Given the description of an element on the screen output the (x, y) to click on. 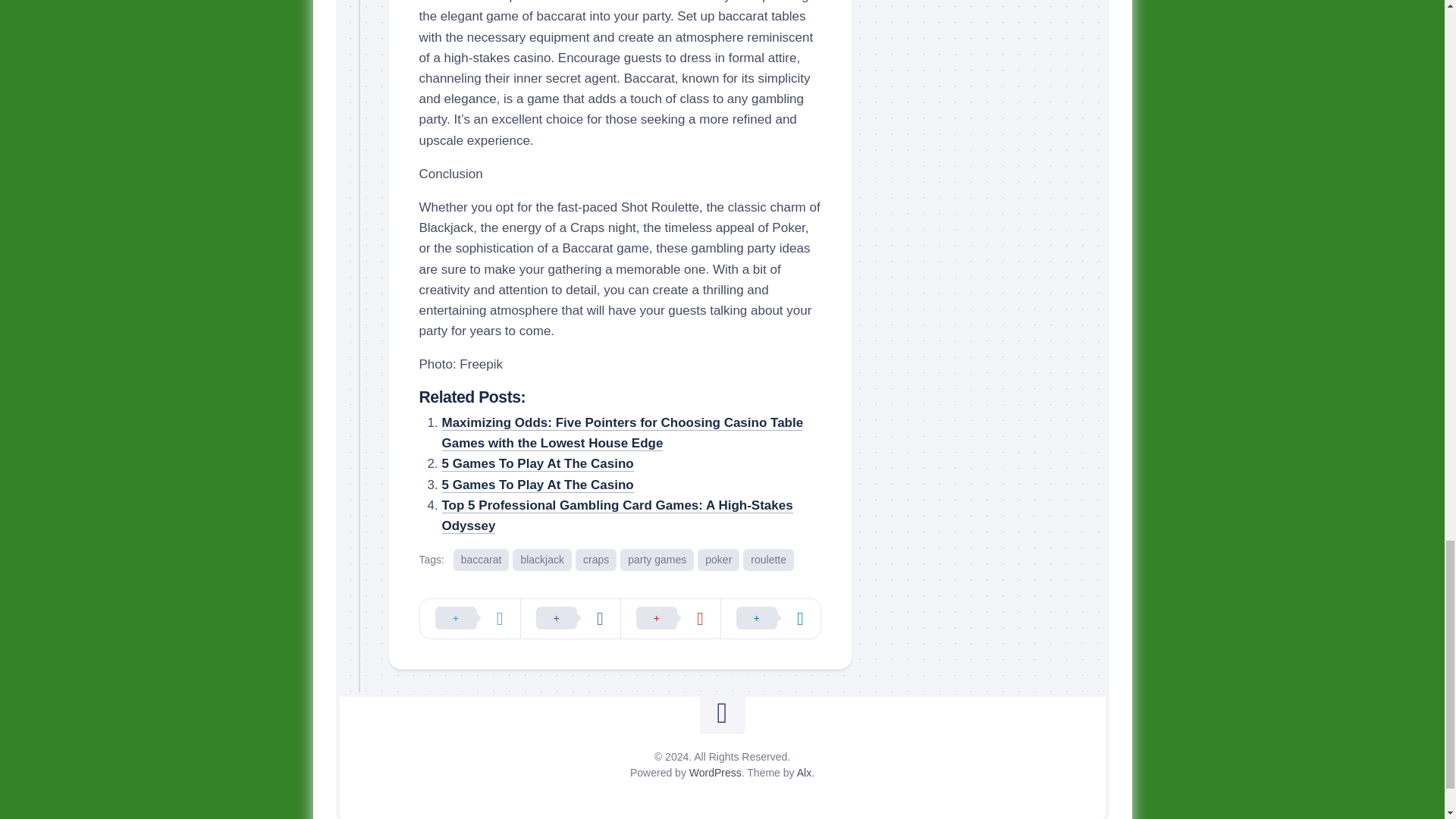
Share on Pinterest (670, 618)
Share on X (469, 618)
5 Games To Play At The Casino (537, 463)
poker (718, 559)
5 Games To Play At The Casino (537, 463)
baccarat (480, 559)
blackjack (542, 559)
Share on Facebook (569, 618)
Share on LinkedIn (770, 618)
5 Games To Play At The Casino (537, 484)
5 Games To Play At The Casino (537, 484)
